Given the description of an element on the screen output the (x, y) to click on. 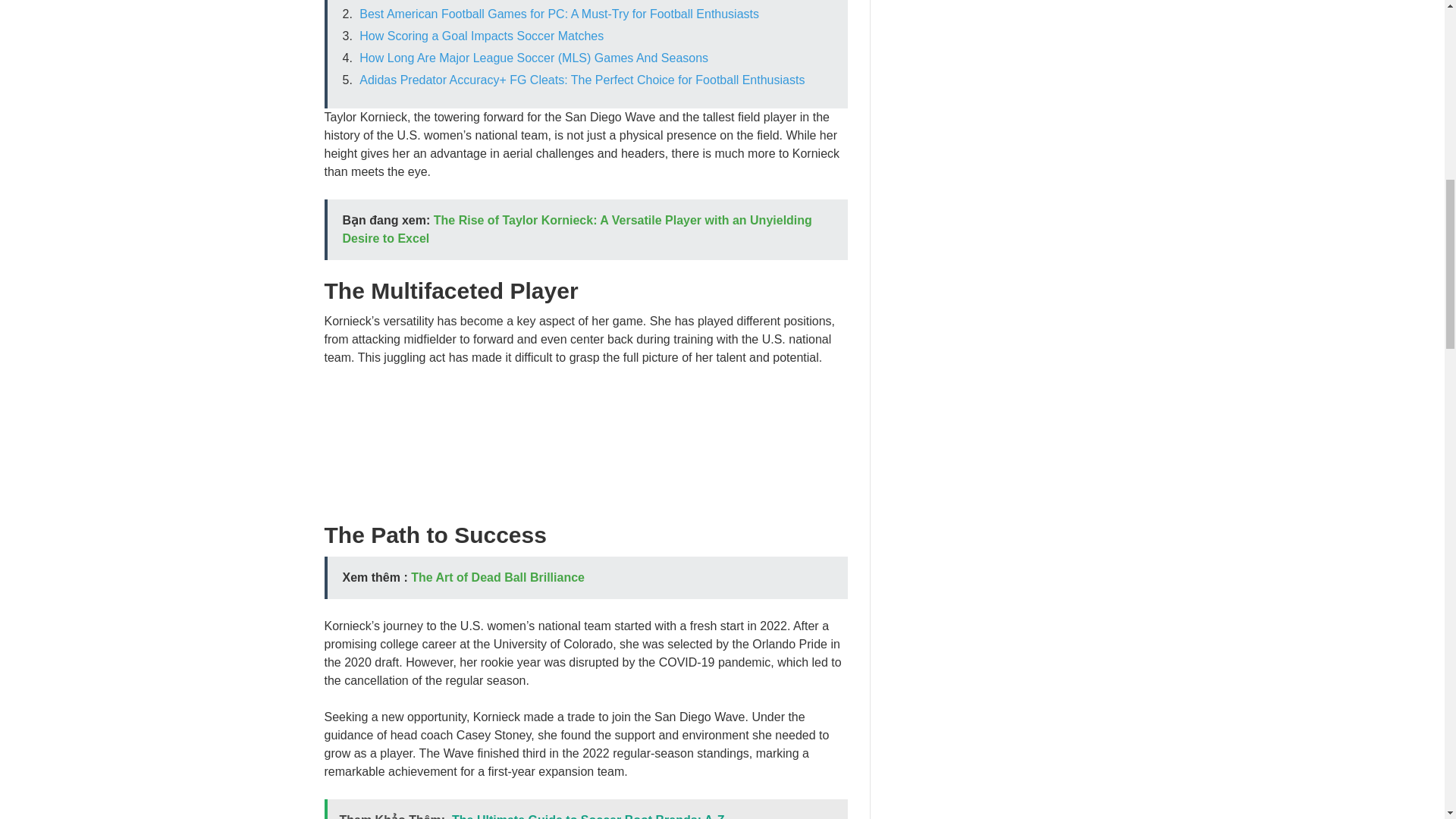
The Art of Dead Ball Brilliance (497, 576)
How Scoring a Goal Impacts Soccer Matches (481, 35)
How Scoring a Goal Impacts Soccer Matches (481, 35)
